Given the description of an element on the screen output the (x, y) to click on. 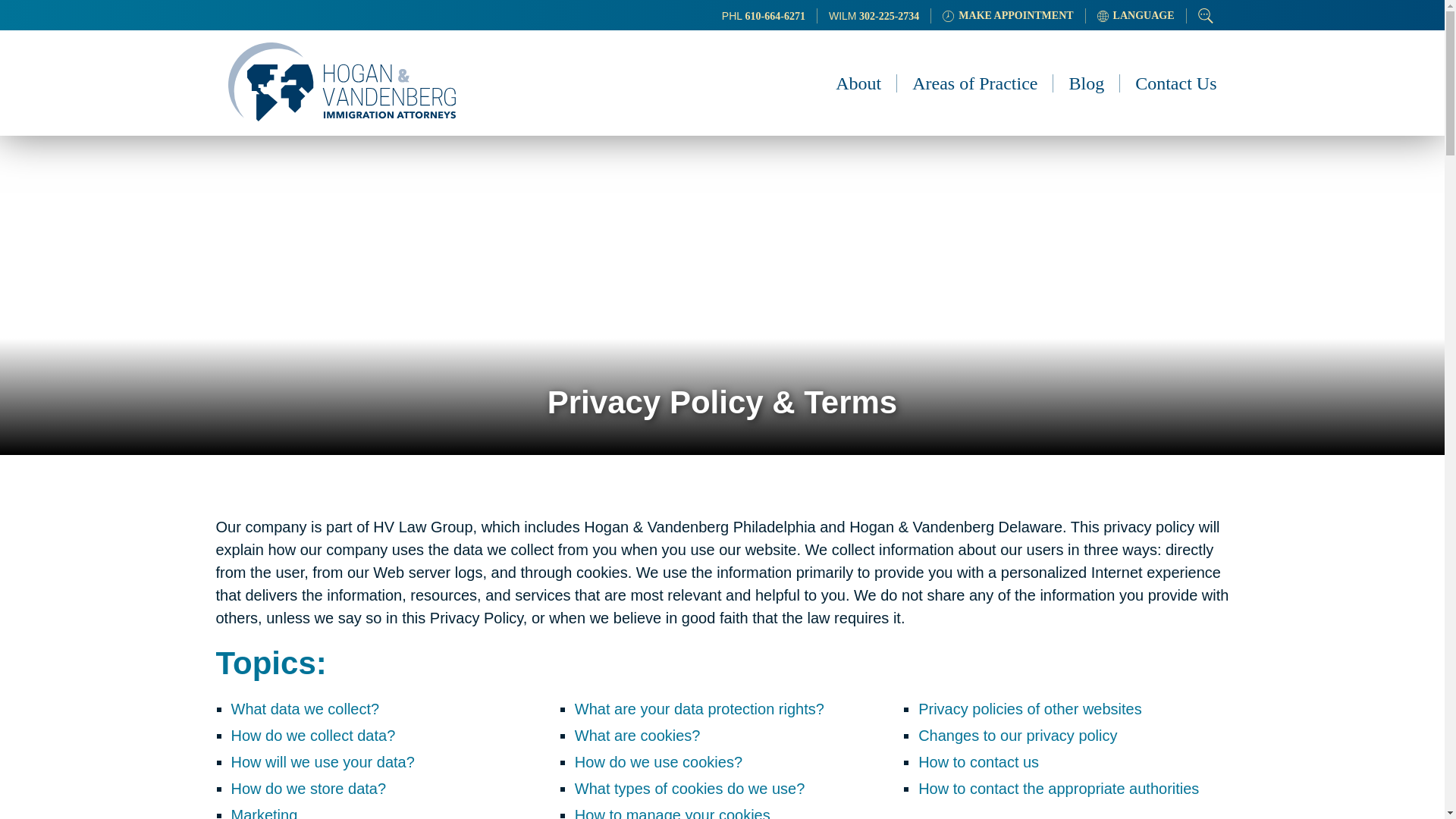
WILM 302-225-2734 (873, 15)
PHL 610-664-6271 (769, 15)
LANGUAGE (1136, 15)
MAKE APPOINTMENT (1007, 15)
